Given the description of an element on the screen output the (x, y) to click on. 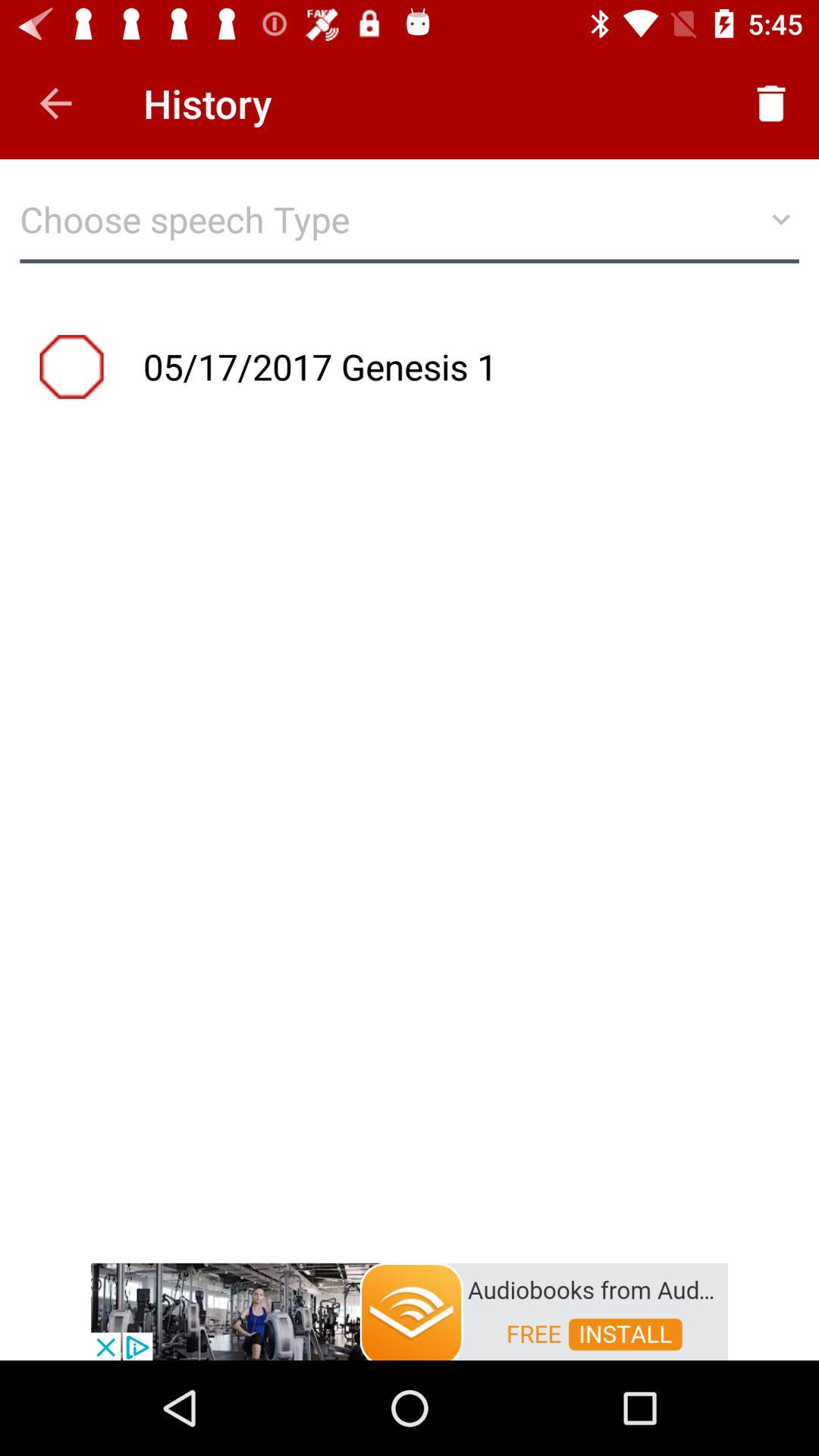
go back (55, 103)
